Given the description of an element on the screen output the (x, y) to click on. 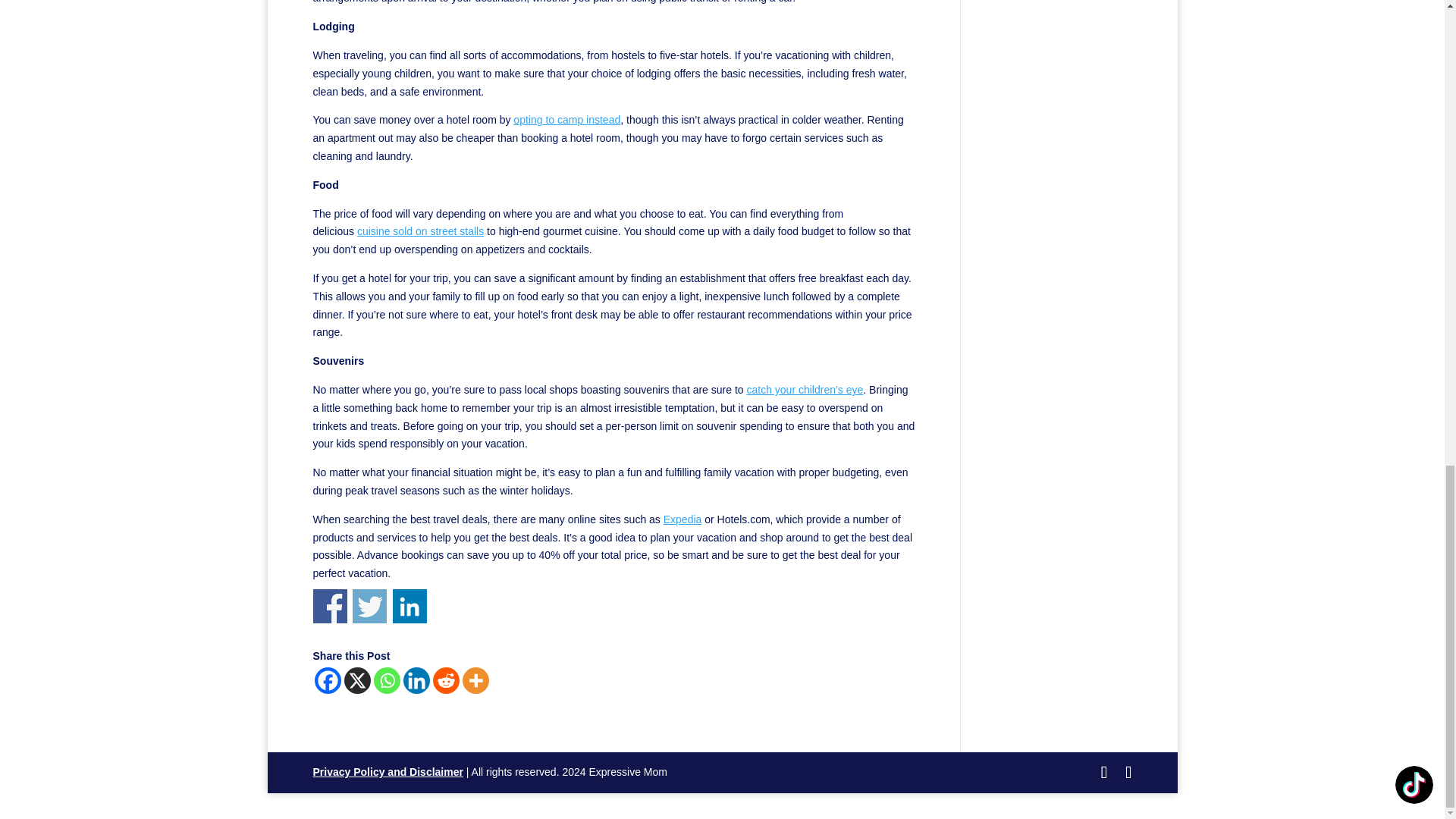
Whatsapp (385, 680)
X (357, 680)
Expedia (682, 519)
Reddit (445, 680)
Facebook (327, 680)
cuisine sold on street stalls (419, 231)
opting to camp instead (566, 119)
Linkedin (416, 680)
